Given the description of an element on the screen output the (x, y) to click on. 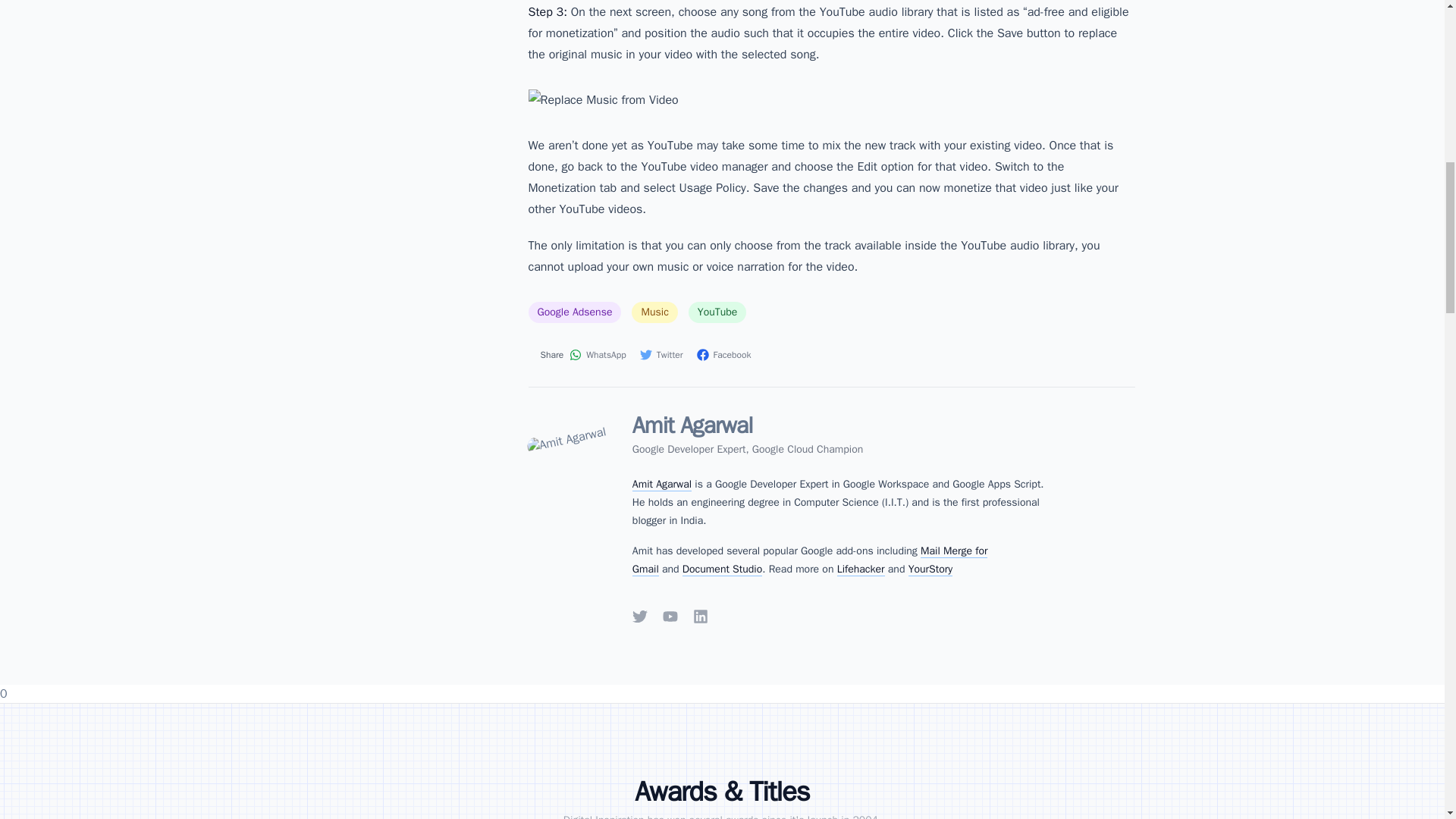
YouTube (670, 616)
Mail Merge for Gmail (809, 560)
Amit Agarwal (661, 484)
Google Adsense (574, 312)
Twitter (662, 354)
LinkedIn (700, 616)
Lifehacker (861, 569)
YourStory (930, 569)
WhatsApp (598, 354)
Document Studio (721, 569)
